Given the description of an element on the screen output the (x, y) to click on. 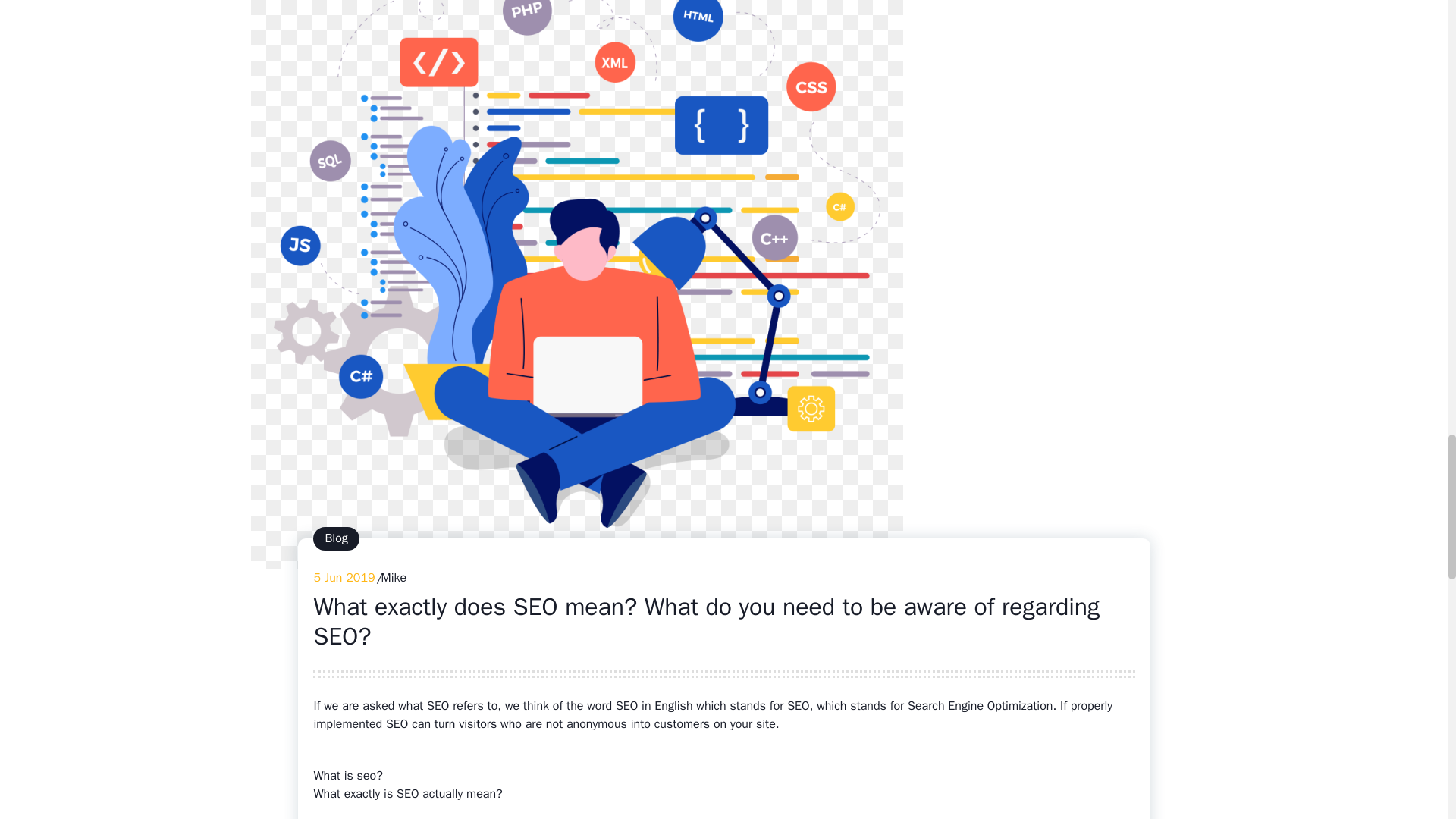
Mike (394, 577)
Mike (394, 577)
Blog (335, 538)
5 Jun 2019 (343, 577)
